Given the description of an element on the screen output the (x, y) to click on. 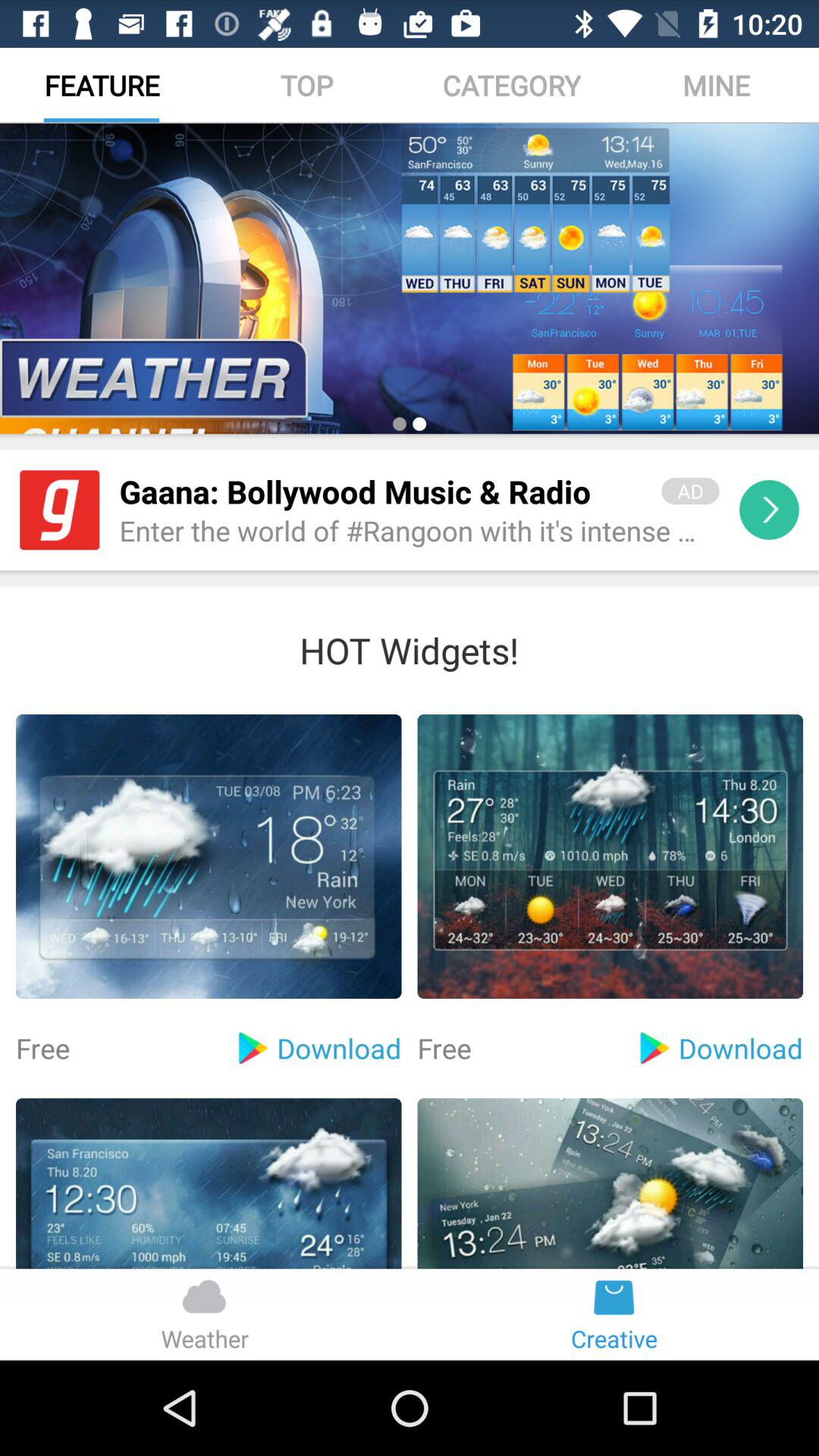
turn off gaana bollywood music (380, 491)
